Given the description of an element on the screen output the (x, y) to click on. 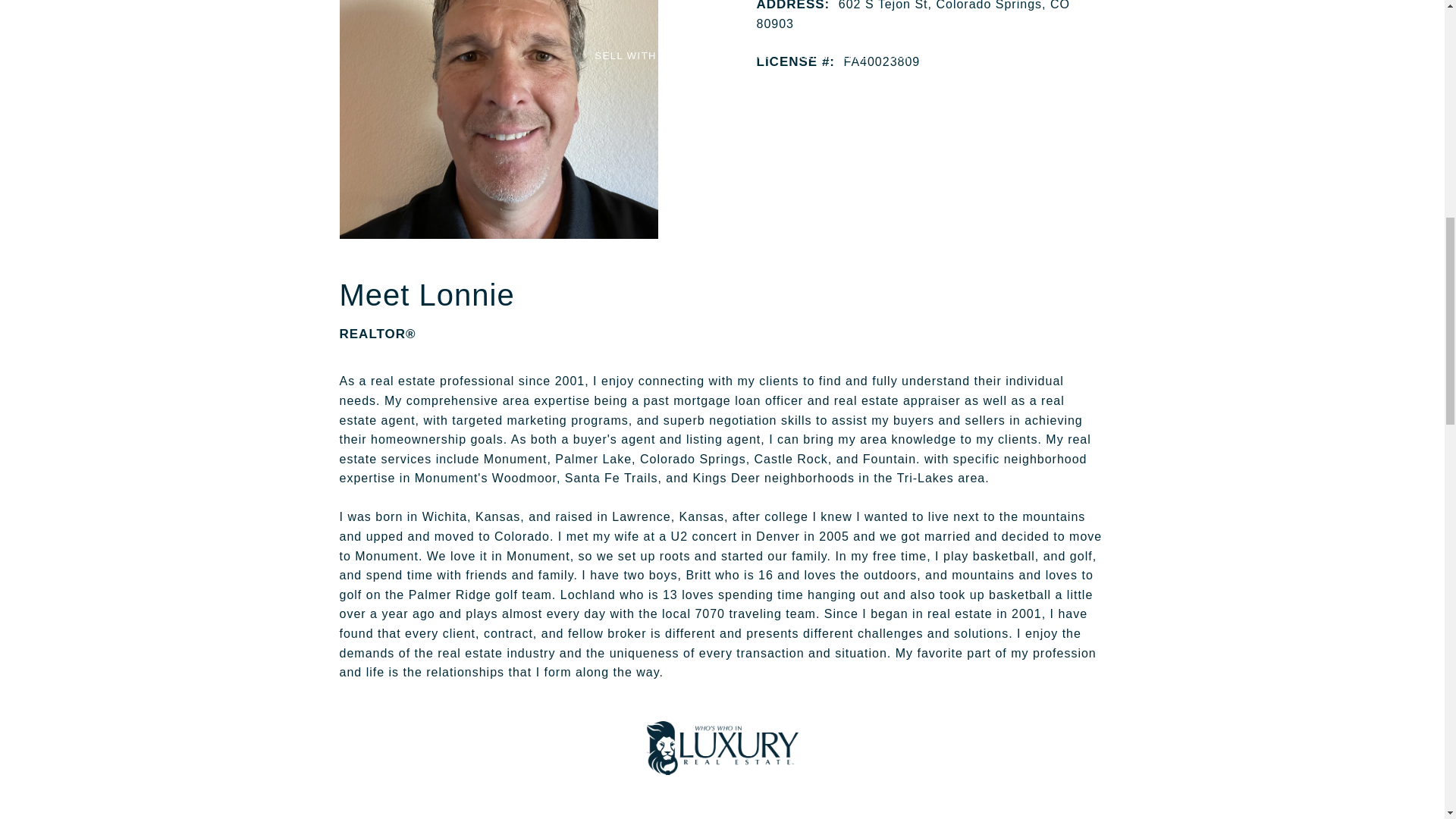
Who's Who Luxury Real Estate (722, 747)
